Given the description of an element on the screen output the (x, y) to click on. 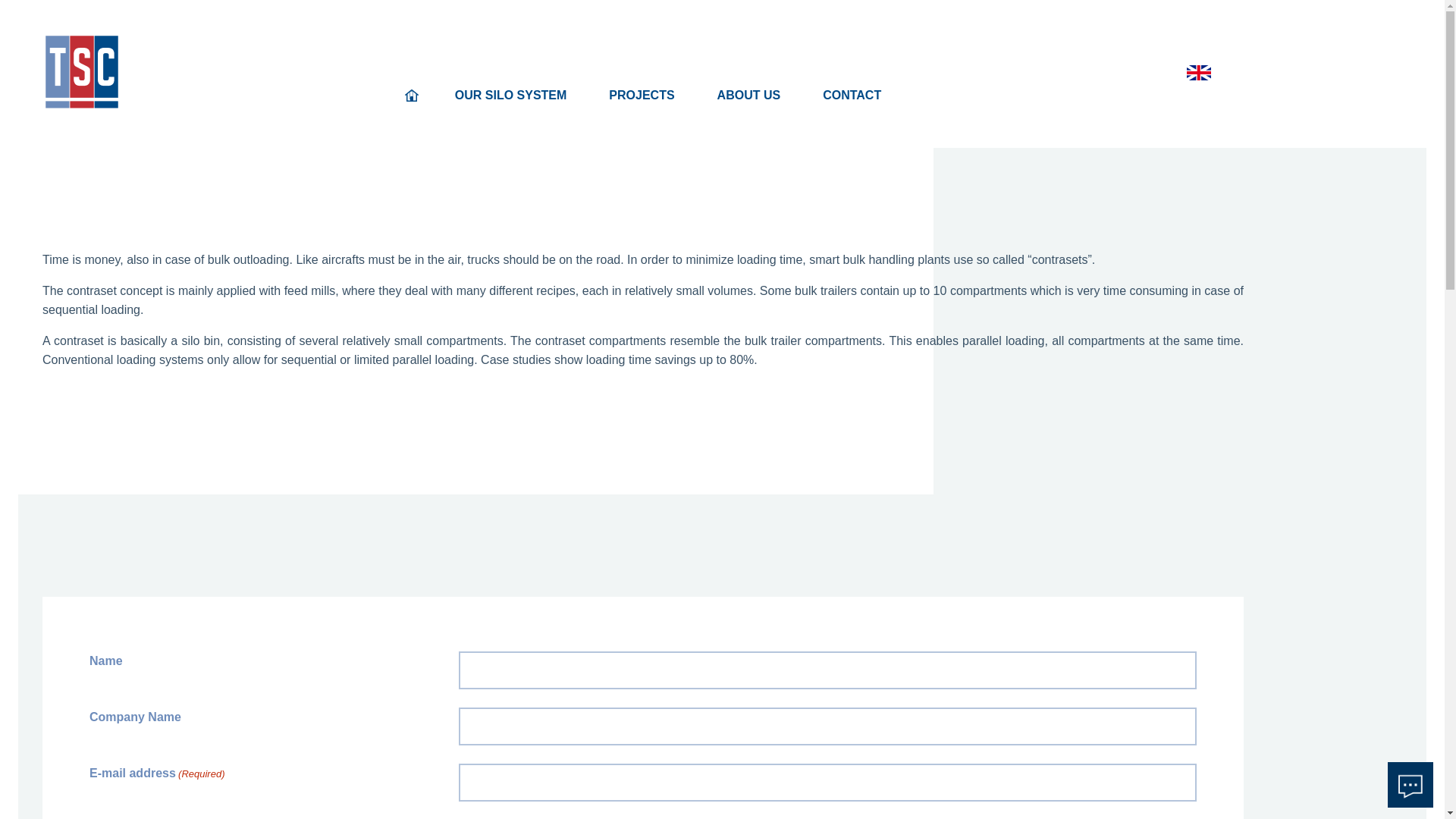
OUR SILO SYSTEM (510, 95)
Siloconstructies (510, 95)
Open Menu (54, 46)
